Given the description of an element on the screen output the (x, y) to click on. 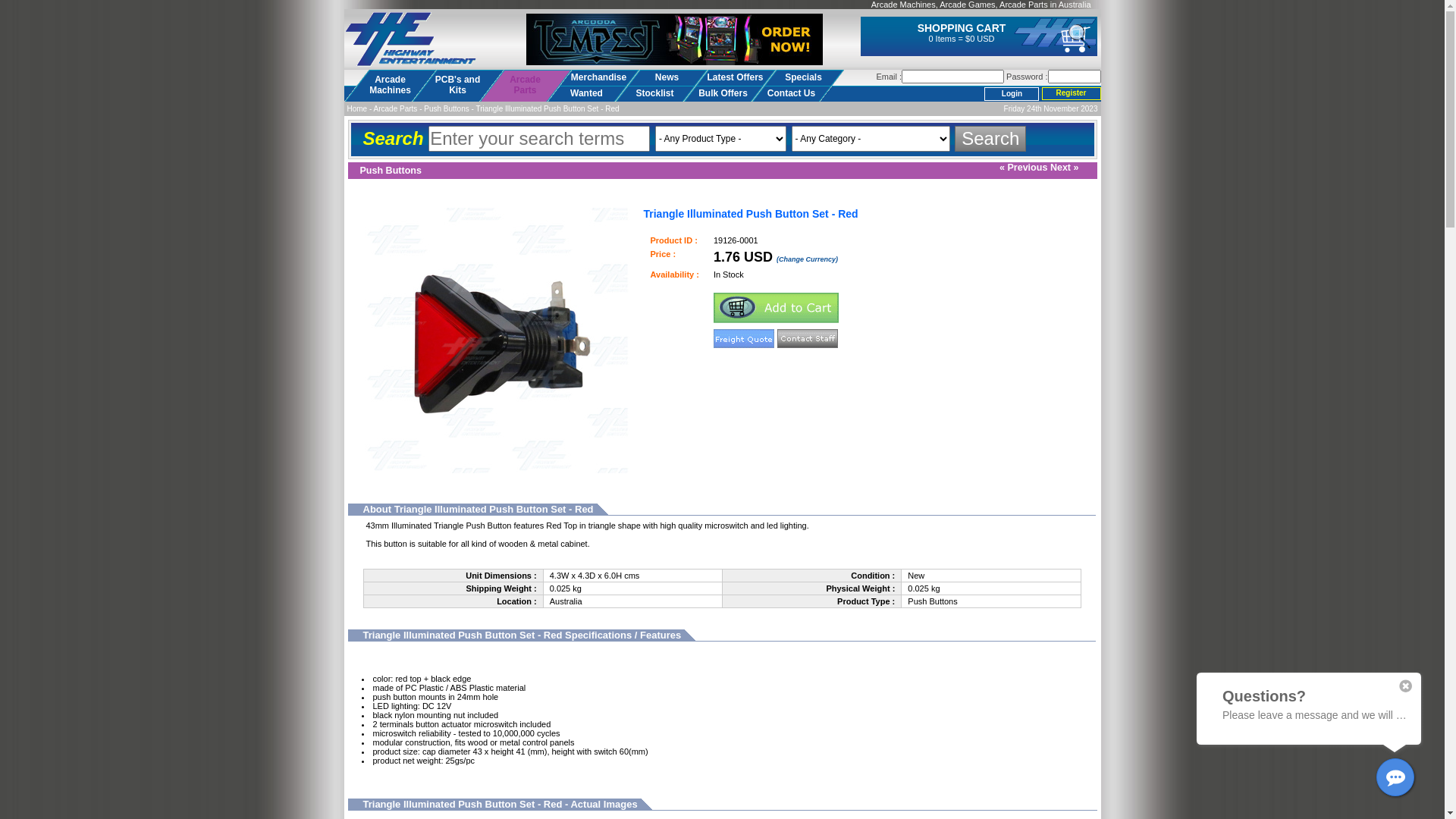
Specials Element type: text (802, 77)
Arcade Machines Element type: text (390, 85)
News Element type: text (666, 77)
Highway Entertainment Element type: hover (410, 40)
Triangle Illuminated Push Button Set - Red Element type: hover (496, 340)
Login Element type: text (1011, 93)
Home Element type: text (357, 108)
Arcade Parts Element type: text (525, 85)
Latest Offers Element type: text (734, 77)
Arcade Parts Element type: text (395, 108)
Triangle Illuminated Push Button Set - Red Element type: text (546, 108)
SHOPPING CART
0 Items = $0 USD Element type: text (961, 33)
Merchandise Element type: text (598, 77)
(Change Currency) Element type: text (806, 259)
Stocklist Element type: text (654, 93)
Bulk Offers Element type: text (722, 93)
Contact Us Element type: text (790, 93)
The Tempest Element type: hover (674, 39)
Wanted Element type: text (586, 93)
PCB's and Kits Element type: text (457, 85)
Push Buttons Element type: text (445, 108)
Register Element type: text (1071, 93)
Search Element type: text (990, 138)
